Given the description of an element on the screen output the (x, y) to click on. 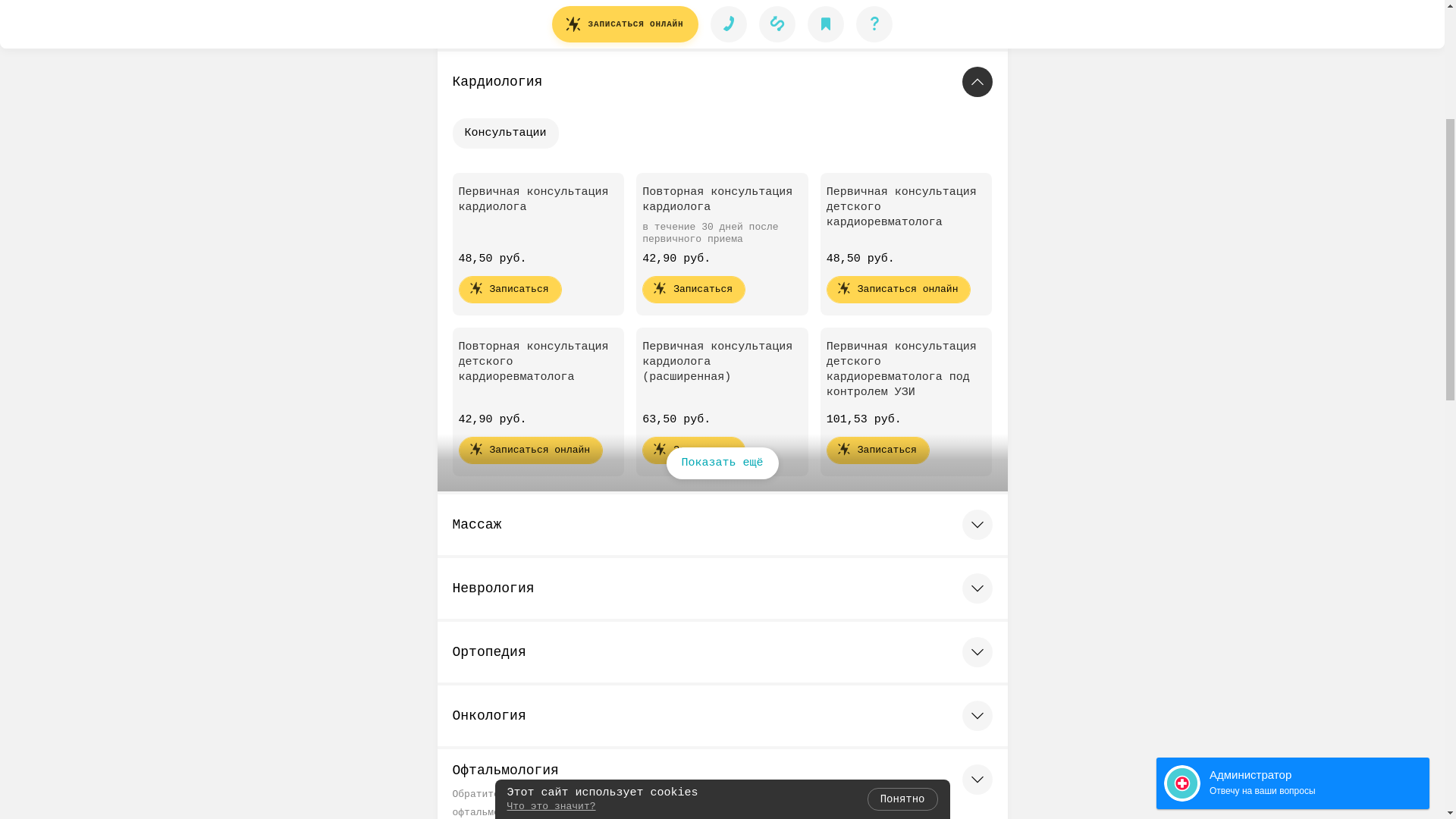
logo Element type: hover (65, 18)
